Given the description of an element on the screen output the (x, y) to click on. 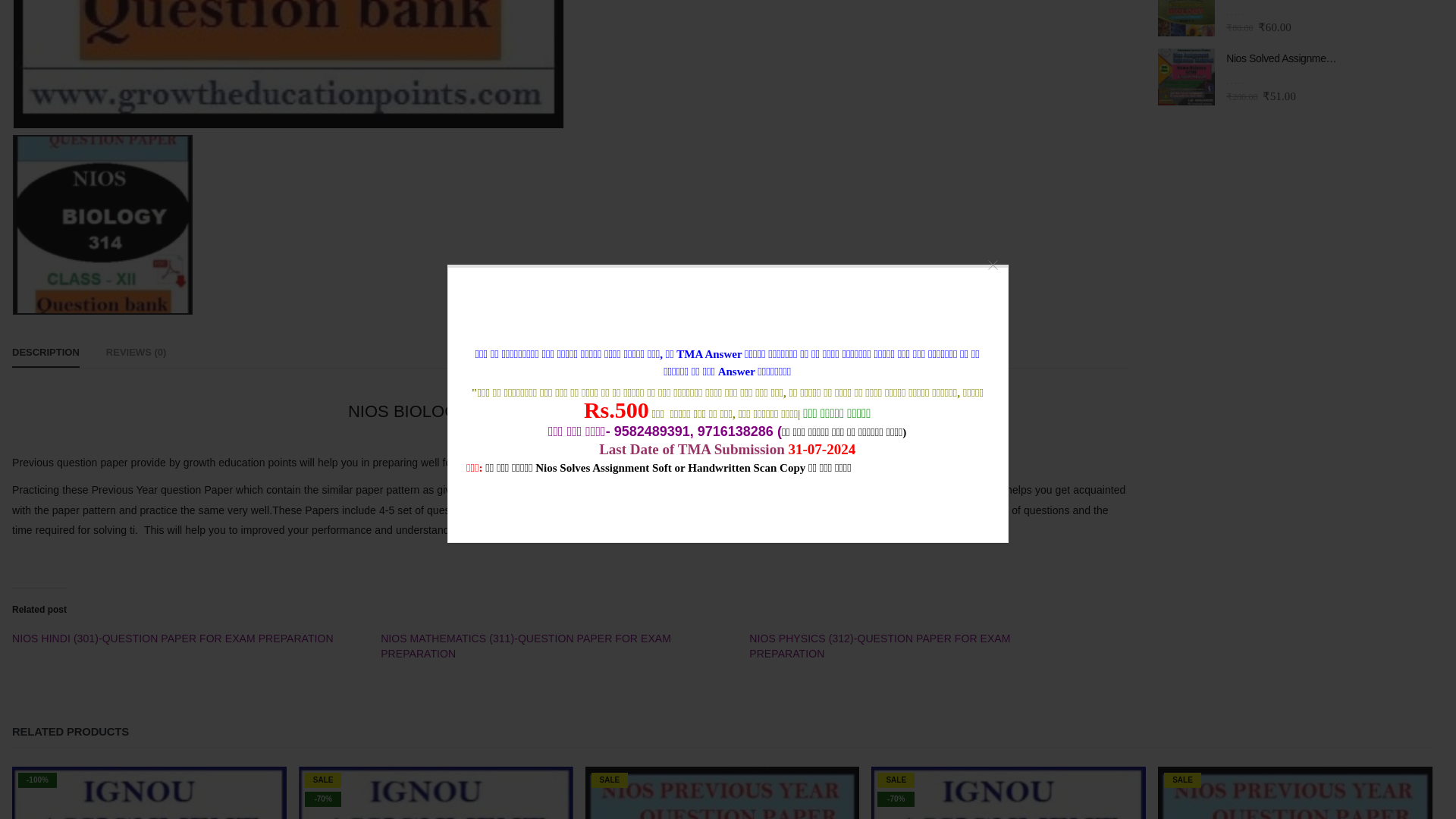
314-min (288, 63)
